Given the description of an element on the screen output the (x, y) to click on. 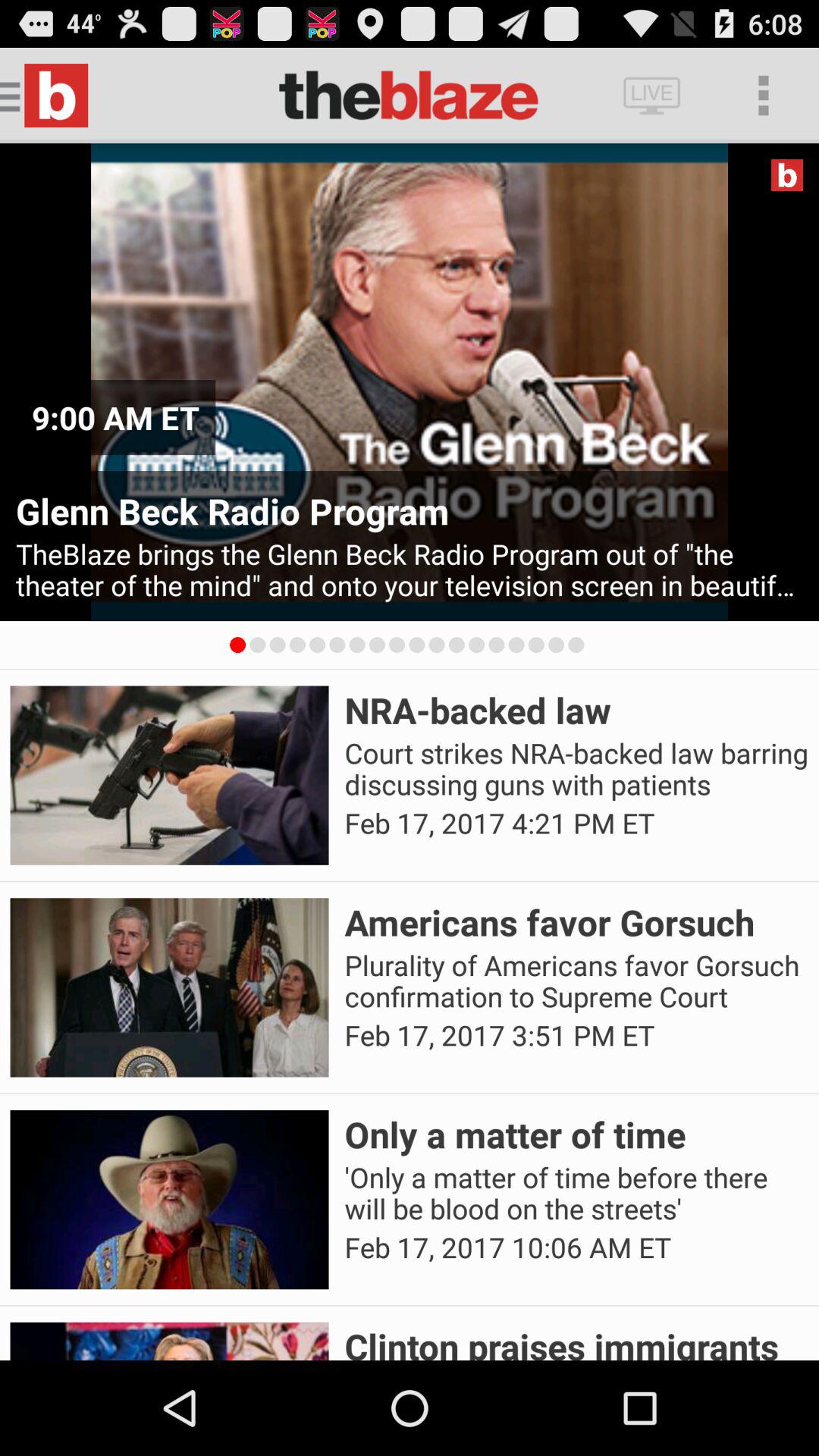
swipe to 9 00 am (115, 417)
